Given the description of an element on the screen output the (x, y) to click on. 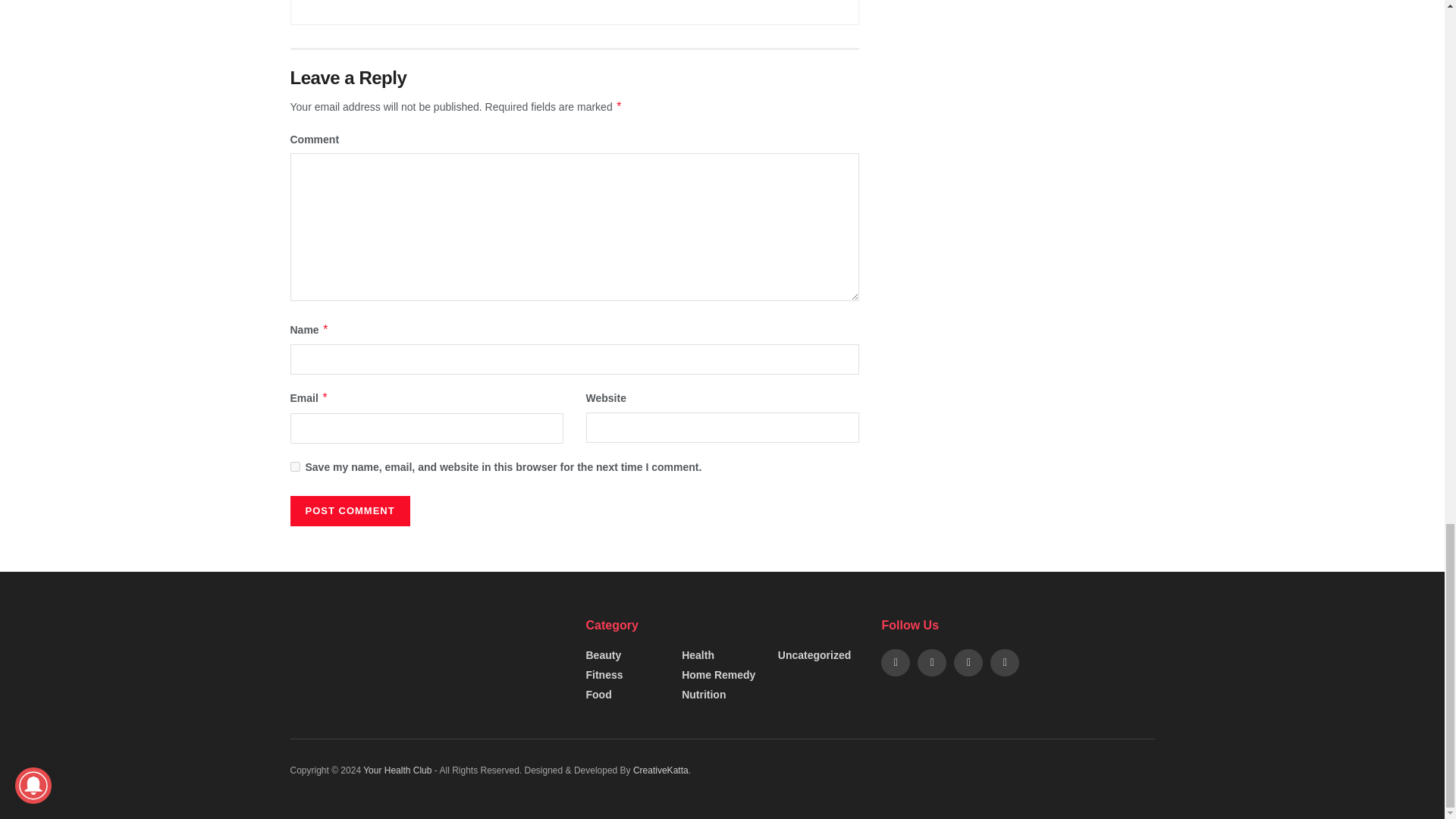
yes (294, 466)
Post Comment (349, 511)
